Given the description of an element on the screen output the (x, y) to click on. 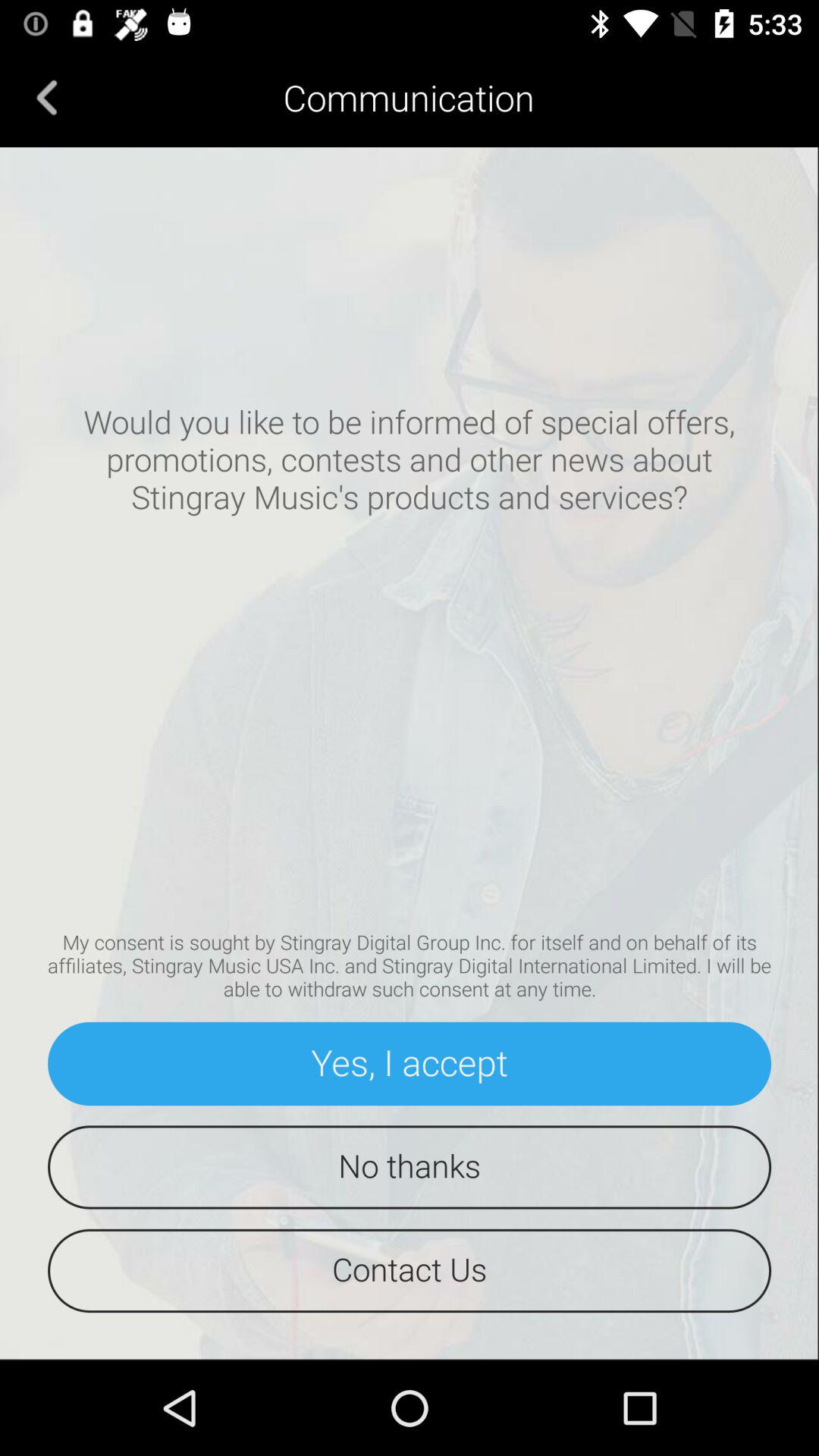
click item above the contact us icon (409, 1167)
